Given the description of an element on the screen output the (x, y) to click on. 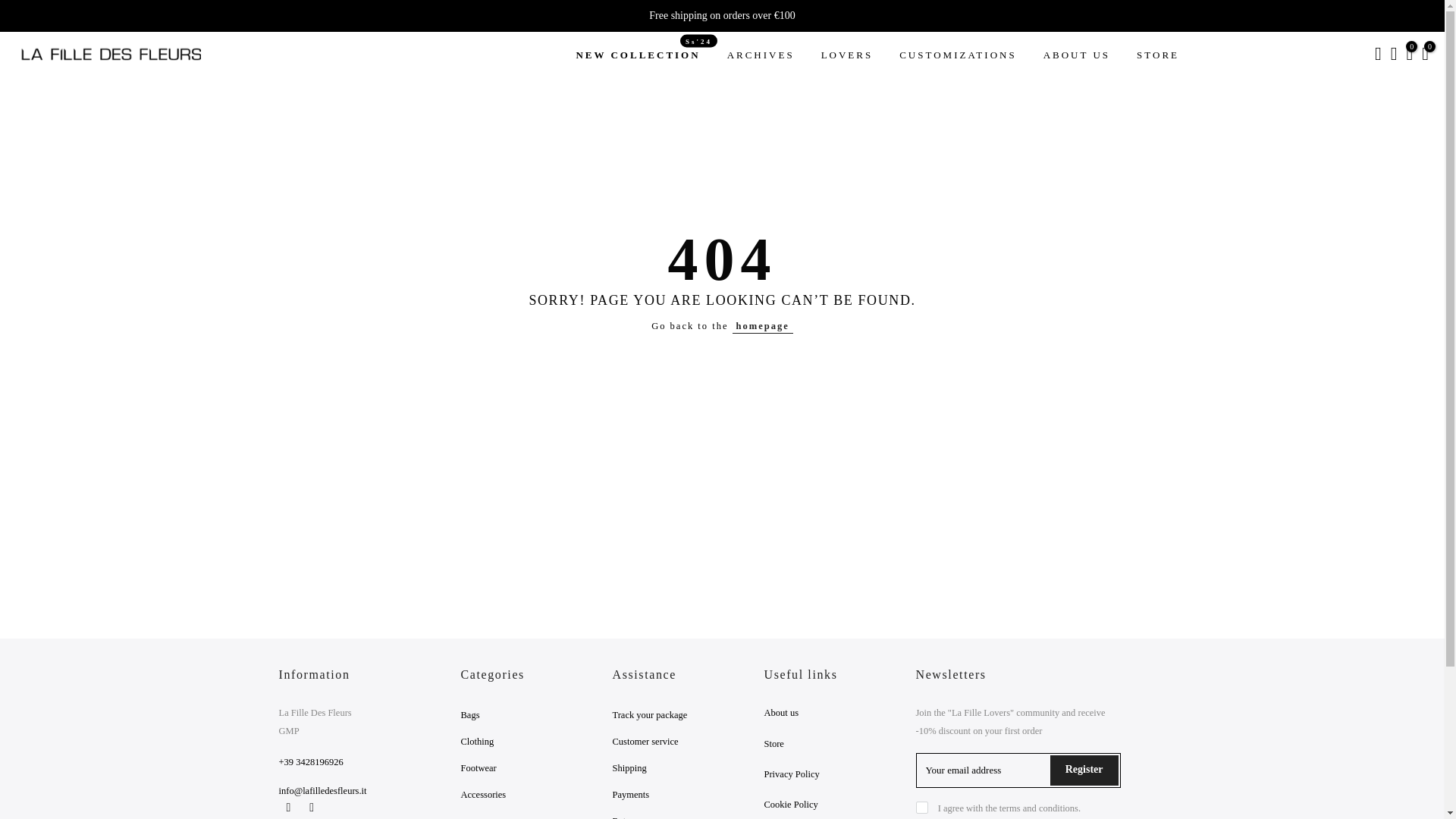
homepage (762, 326)
STORE (637, 53)
ARCHIVES (1158, 53)
ABOUT US (760, 53)
CUSTOMIZATIONS (1075, 53)
LOVERS (957, 53)
